Given the description of an element on the screen output the (x, y) to click on. 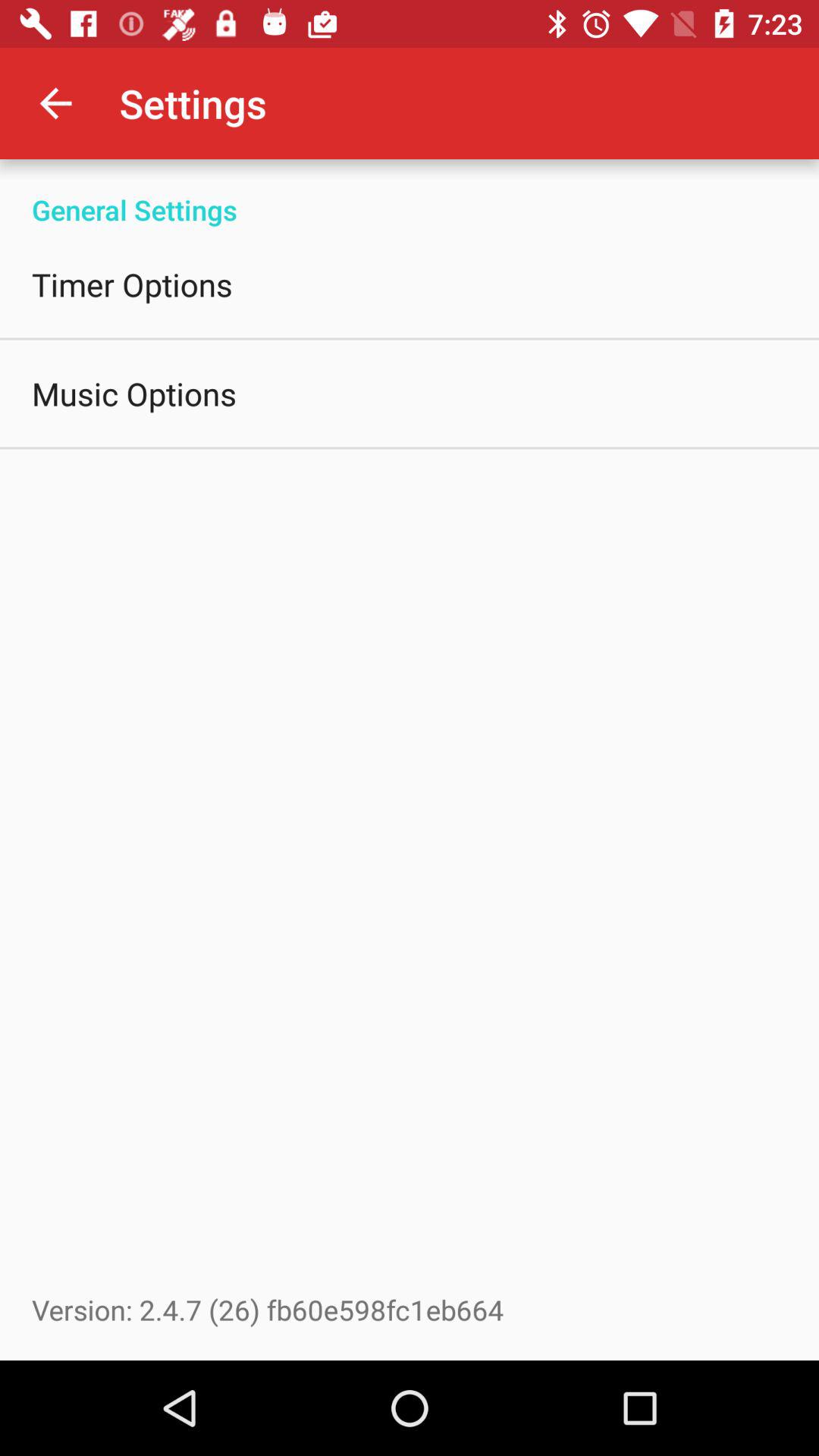
flip until the music options (133, 393)
